Given the description of an element on the screen output the (x, y) to click on. 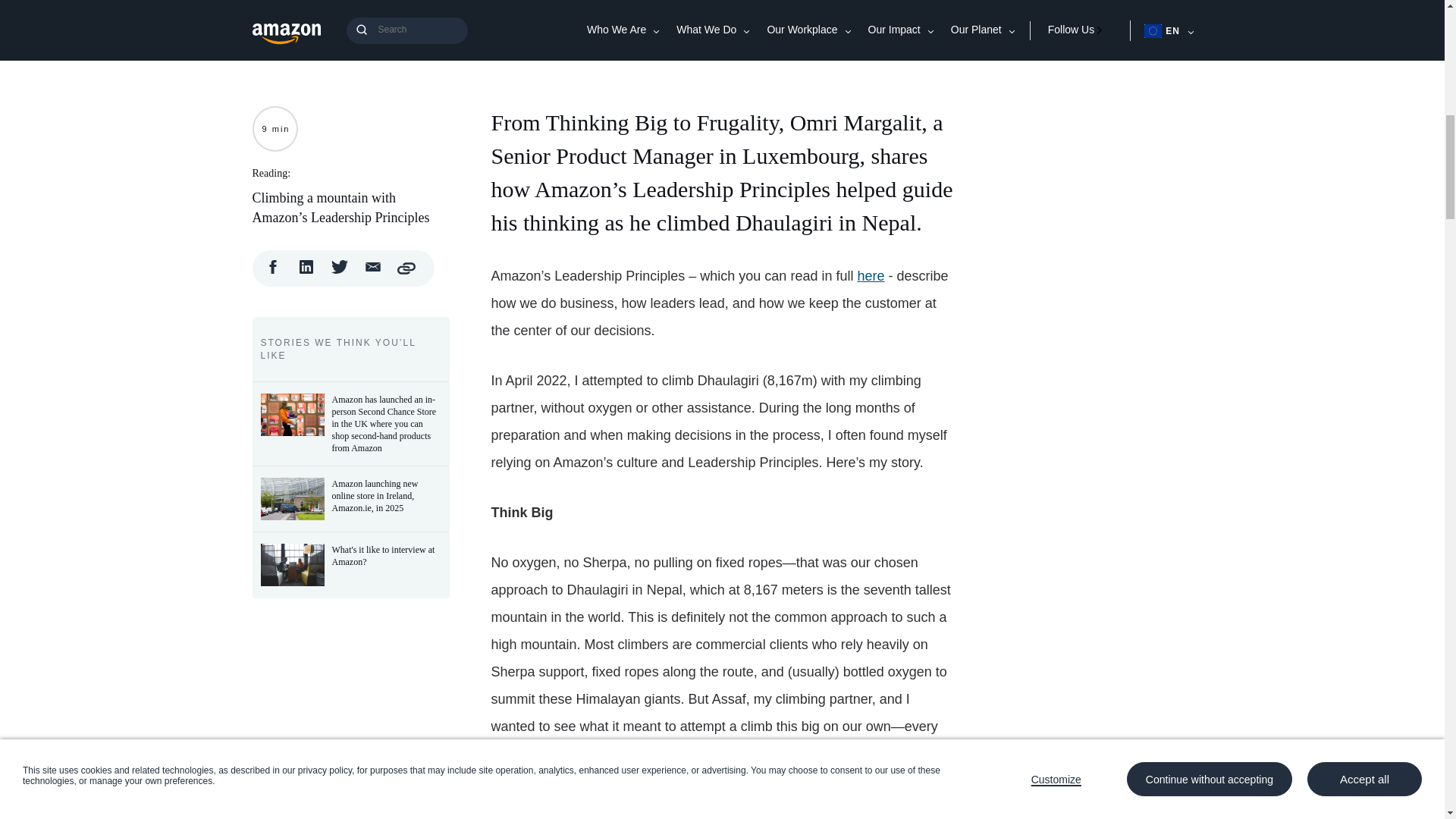
Facebook Share (272, 271)
LinkedIn Share (306, 271)
Email Share (372, 271)
Twitter Share (339, 271)
